Given the description of an element on the screen output the (x, y) to click on. 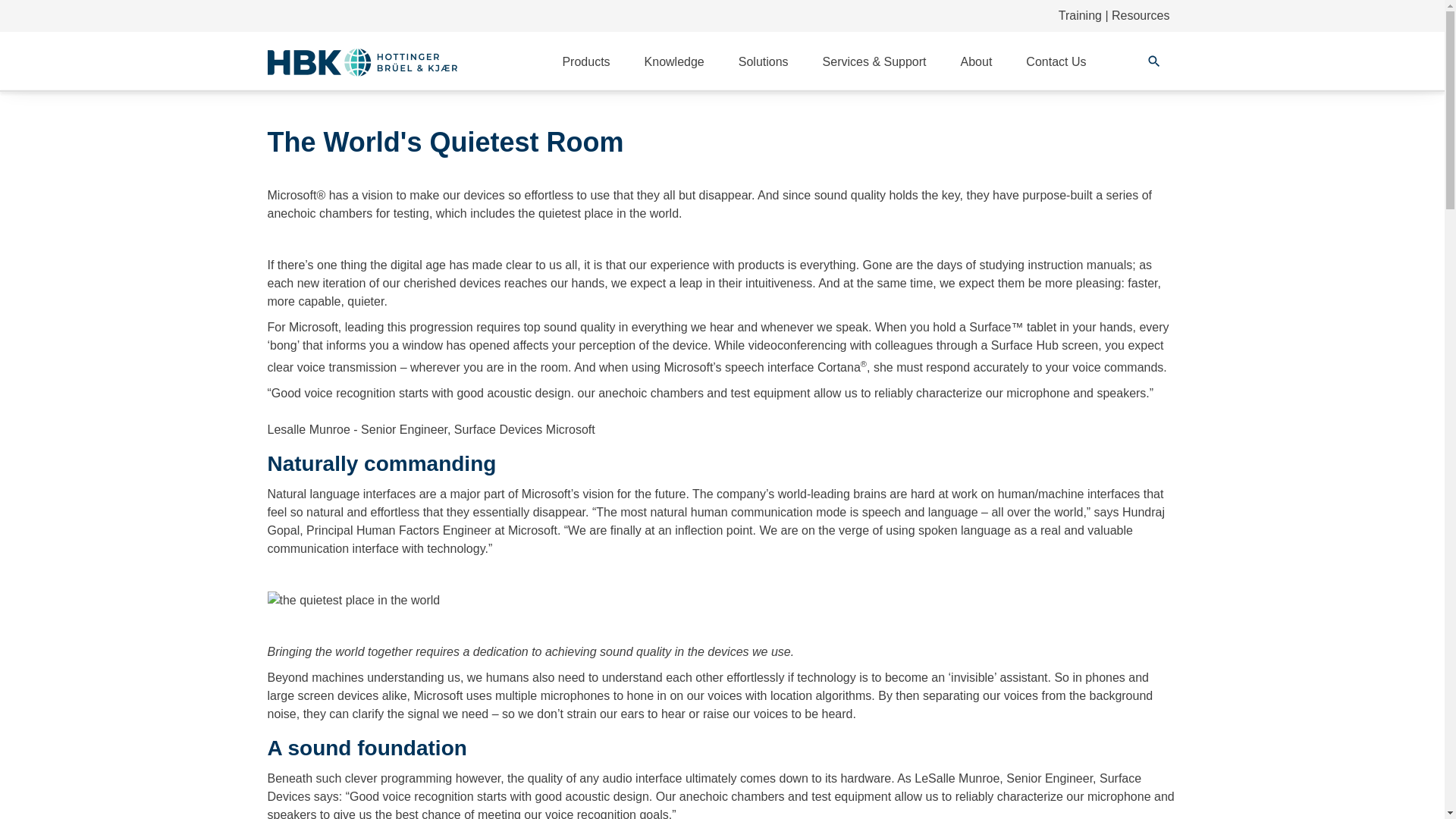
Solutions (763, 62)
Contact Us (1056, 62)
Knowledge (674, 62)
Training (1080, 15)
Resources (1140, 15)
